Given the description of an element on the screen output the (x, y) to click on. 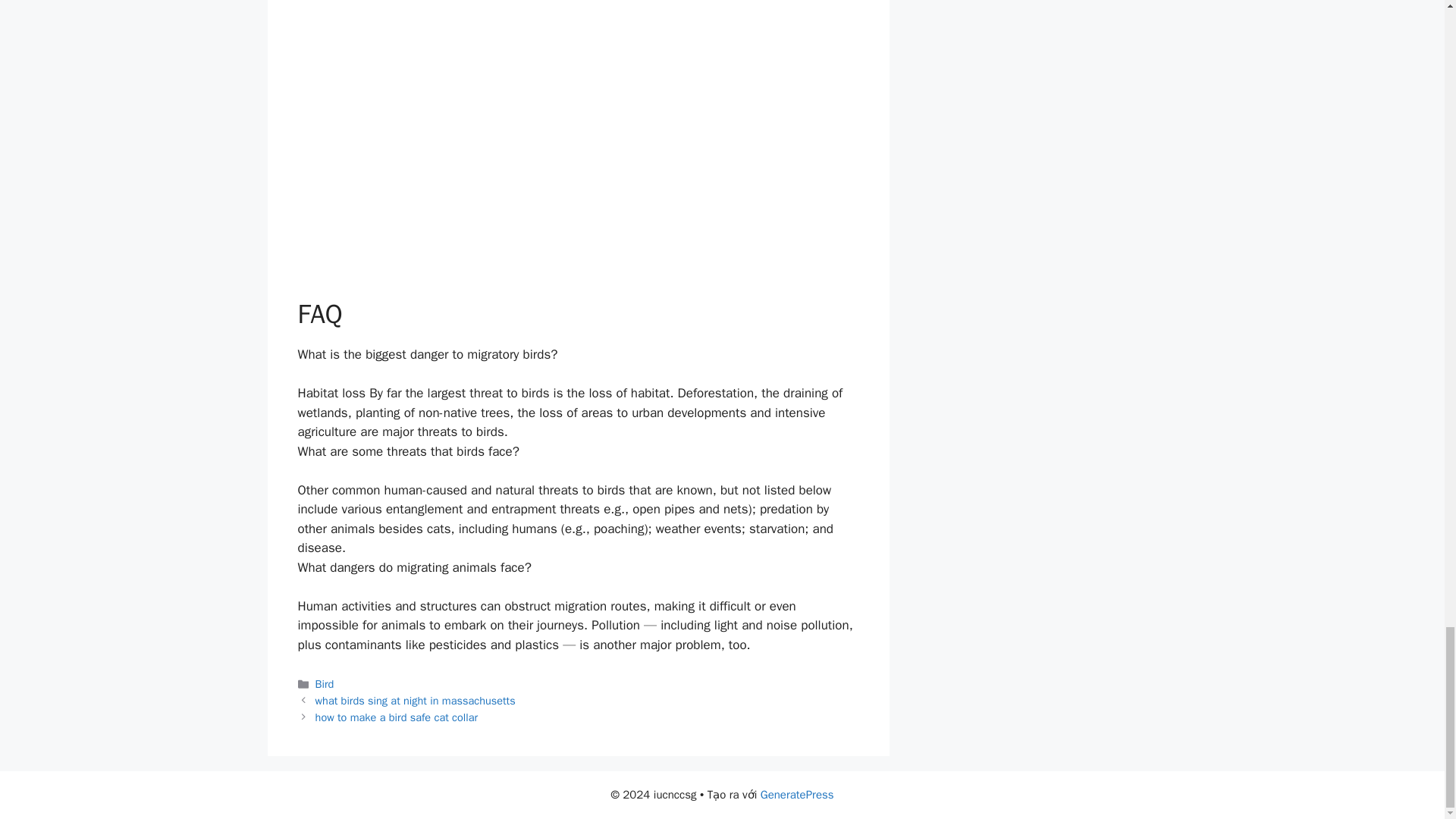
what birds sing at night in massachusetts (415, 700)
GeneratePress (797, 794)
Bird (324, 684)
how to make a bird safe cat collar (397, 716)
